Given the description of an element on the screen output the (x, y) to click on. 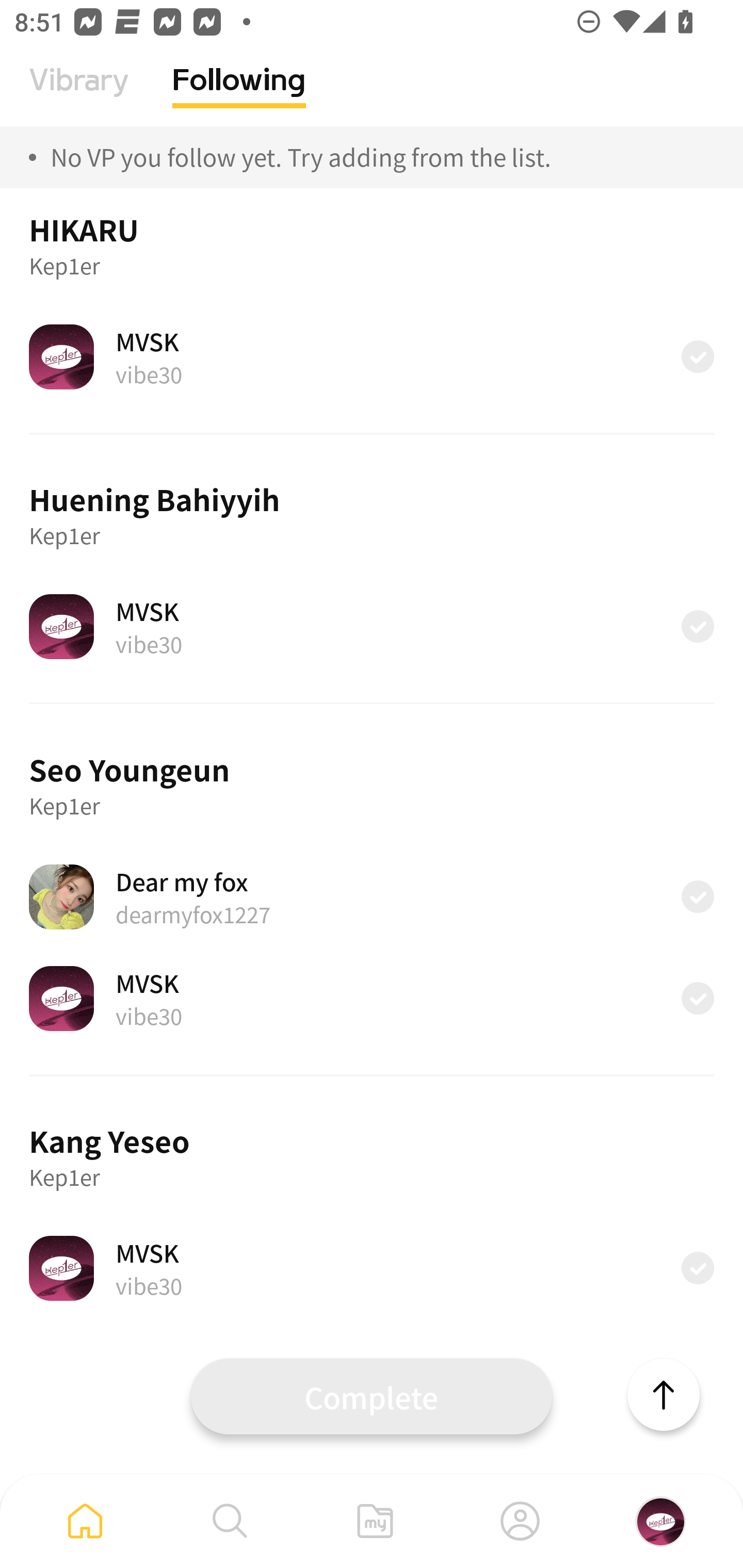
Vibrary (78, 95)
Following (239, 95)
MVSK vibe30 (371, 356)
MVSK vibe30 (371, 626)
Dear my fox dearmyfox1227 (371, 896)
MVSK vibe30 (371, 998)
MVSK vibe30 (371, 1268)
Complete (371, 1395)
